Given the description of an element on the screen output the (x, y) to click on. 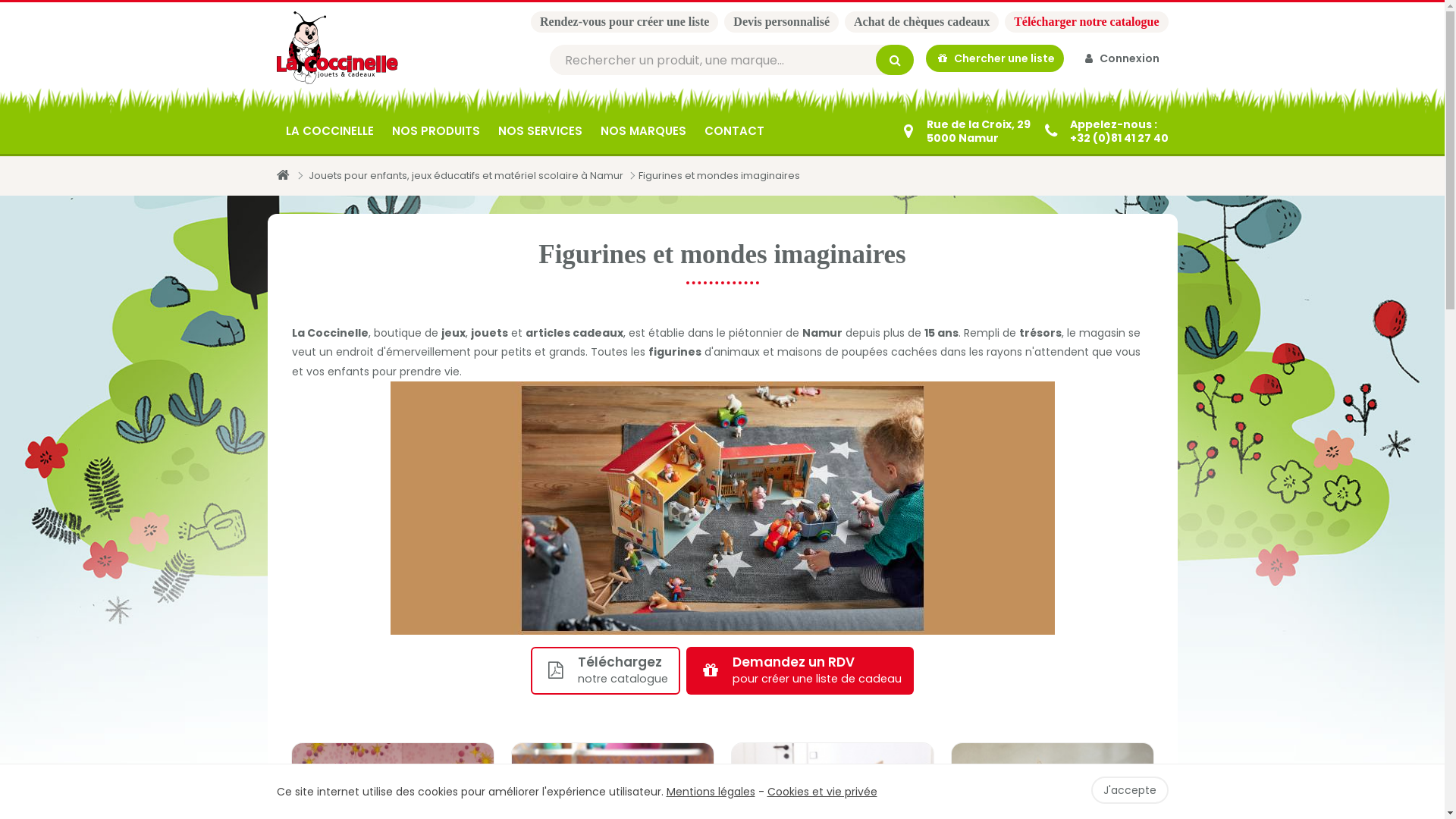
Rue de la Croix, 29
5000 Namur Element type: text (964, 130)
NOS SERVICES Element type: text (539, 130)
J'accepte Element type: text (1128, 789)
La Coccinelle Element type: hover (336, 47)
Connexion Element type: text (1122, 58)
LA COCCINELLE Element type: text (329, 130)
NOS PRODUITS Element type: text (435, 130)
Appelez-nous :
+32 (0)81 41 27 40 Element type: text (1104, 130)
NOS MARQUES Element type: text (643, 130)
Chercher une liste Element type: text (994, 58)
CONTACT Element type: text (733, 130)
